Given the description of an element on the screen output the (x, y) to click on. 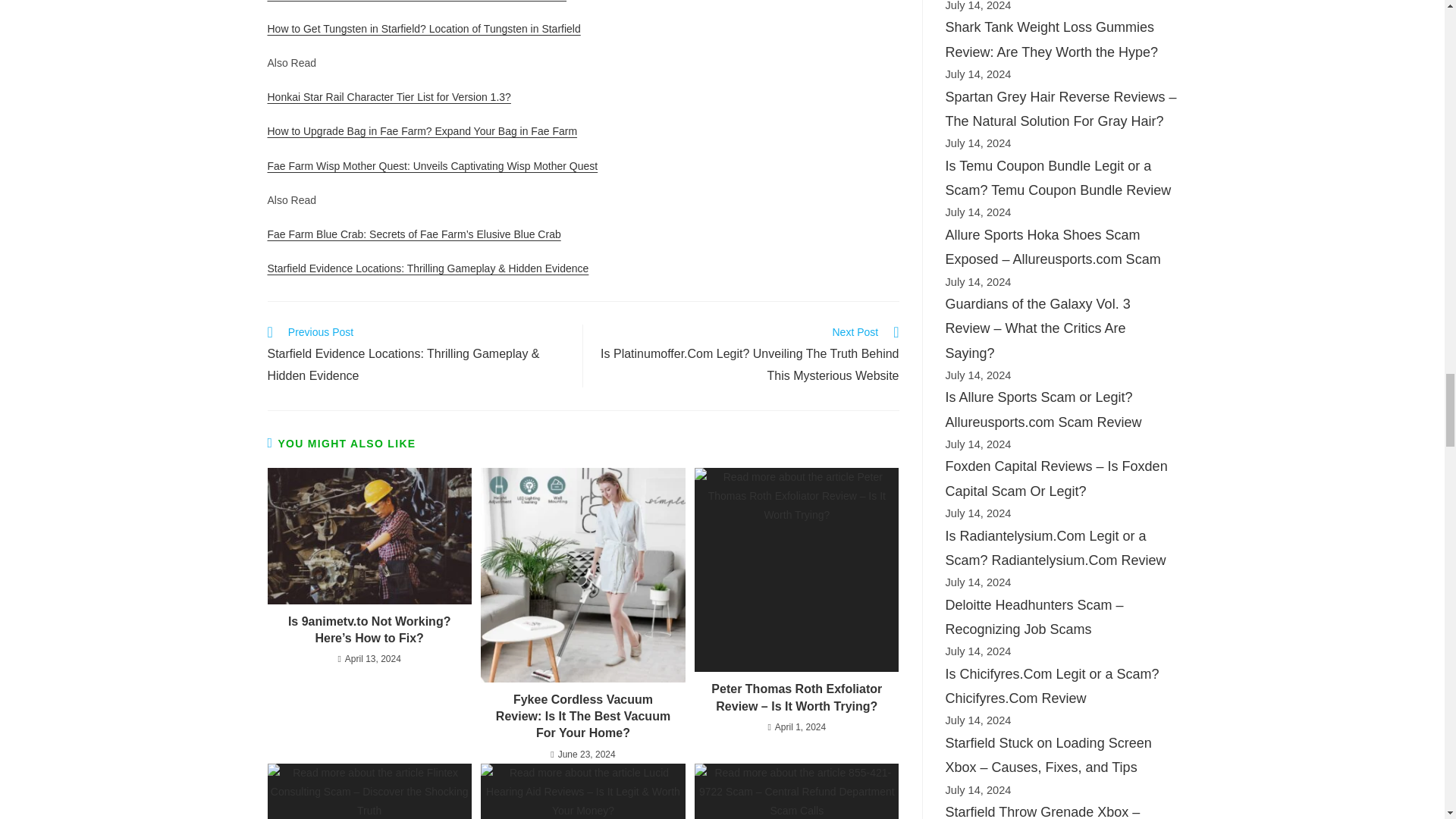
Is 9animetv.to Not Working? Here's How to Fix? (368, 535)
855-421-9722 Scam - Central Refund Department Scam Calls (796, 791)
Peter Thomas Roth Exfoliator Review - Is It Worth Trying? (796, 569)
Flintex Consulting Scam - Discover the Shocking Truth (368, 791)
